Given the description of an element on the screen output the (x, y) to click on. 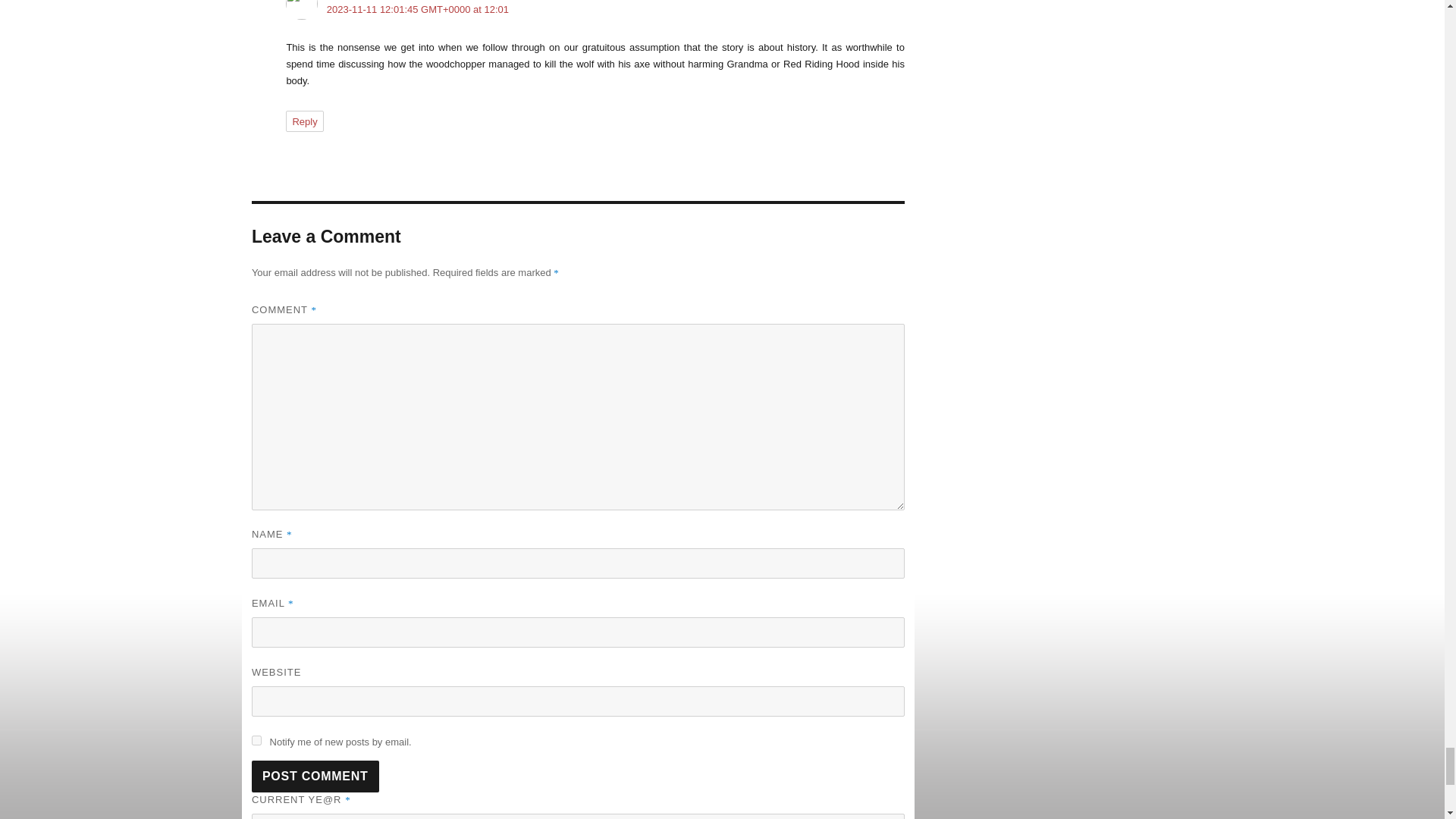
Post Comment (314, 776)
subscribe (256, 740)
